Given the description of an element on the screen output the (x, y) to click on. 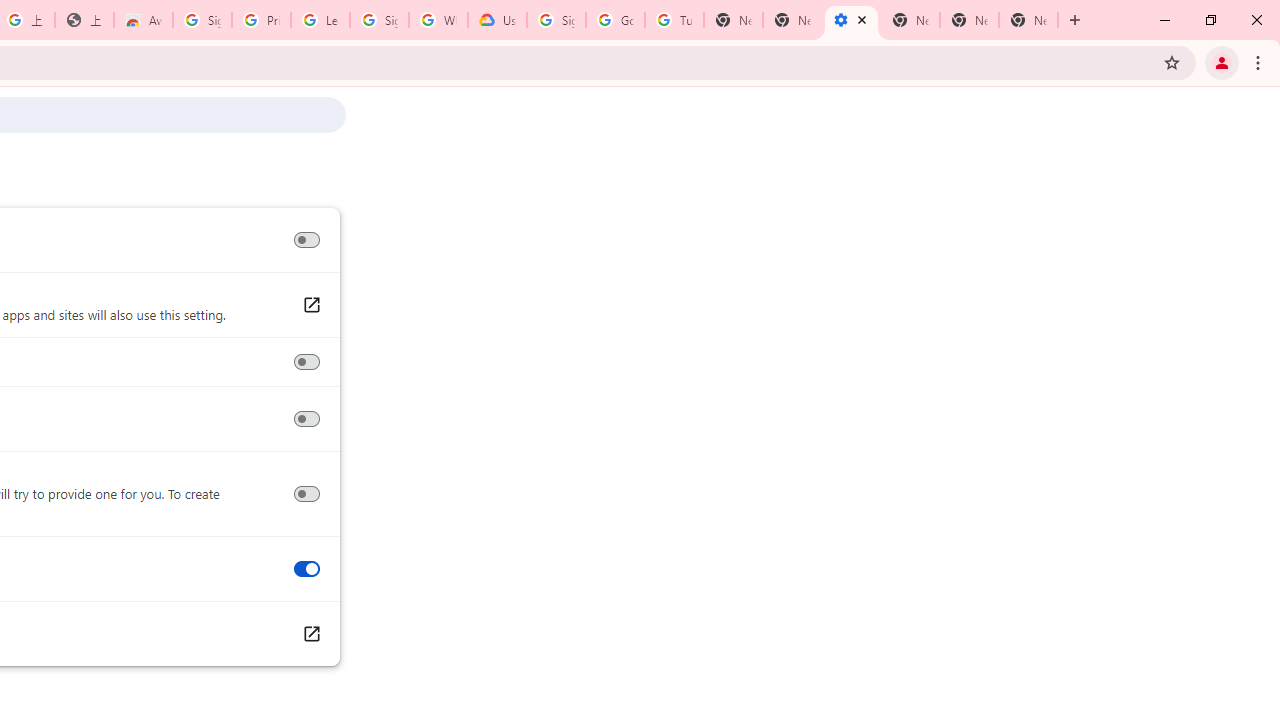
Live Caption (306, 240)
New Tab (909, 20)
Settings - Accessibility (850, 20)
Who are Google's partners? - Privacy and conditions - Google (438, 20)
Add accessibility features Open Chrome Web Store (310, 633)
Awesome Screen Recorder & Screenshot - Chrome Web Store (142, 20)
Navigate pages with a text cursor (306, 419)
Sign in - Google Accounts (556, 20)
New Tab (1028, 20)
Swipe between pages (306, 569)
